Given the description of an element on the screen output the (x, y) to click on. 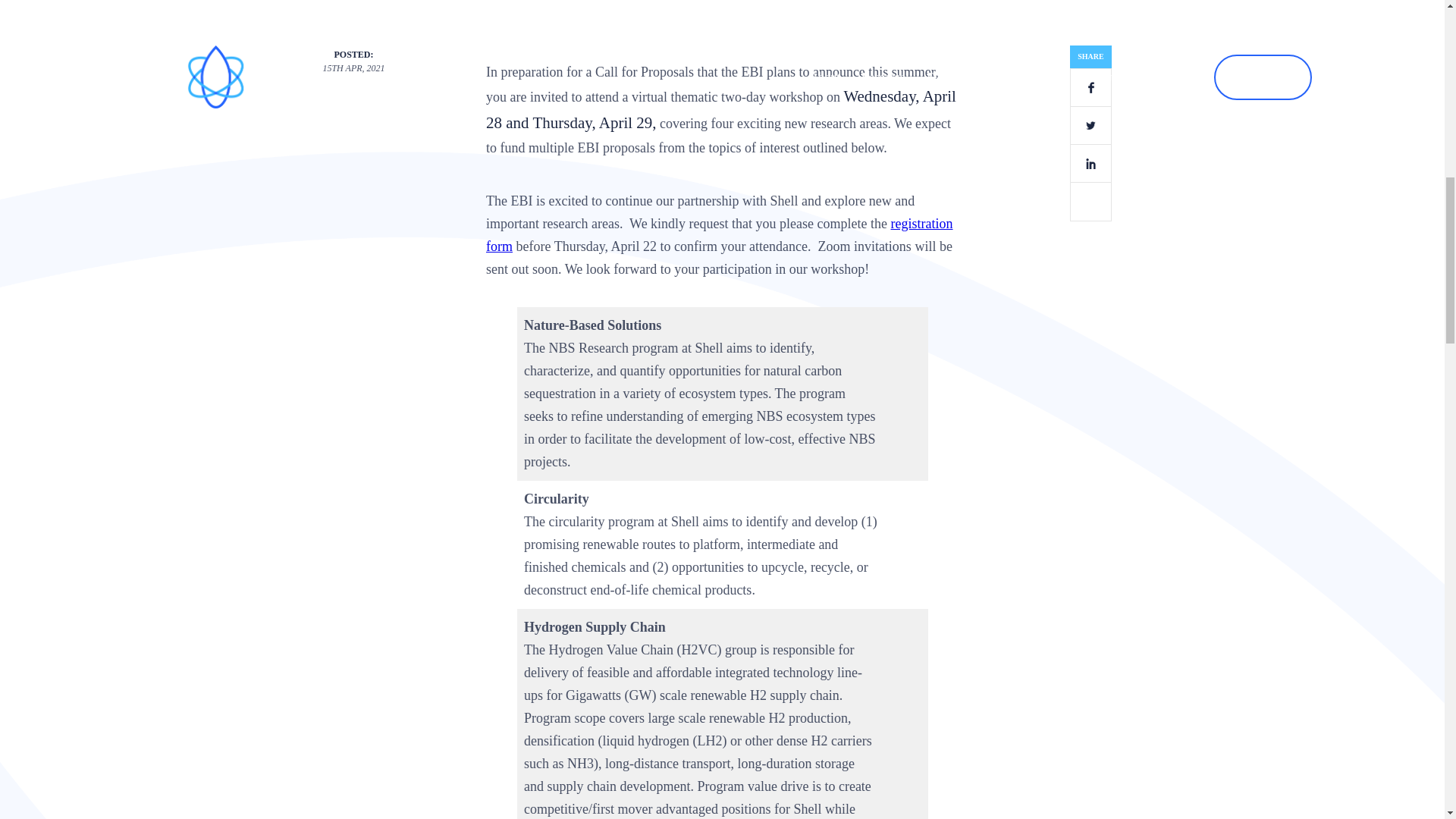
registration form (719, 234)
